Given the description of an element on the screen output the (x, y) to click on. 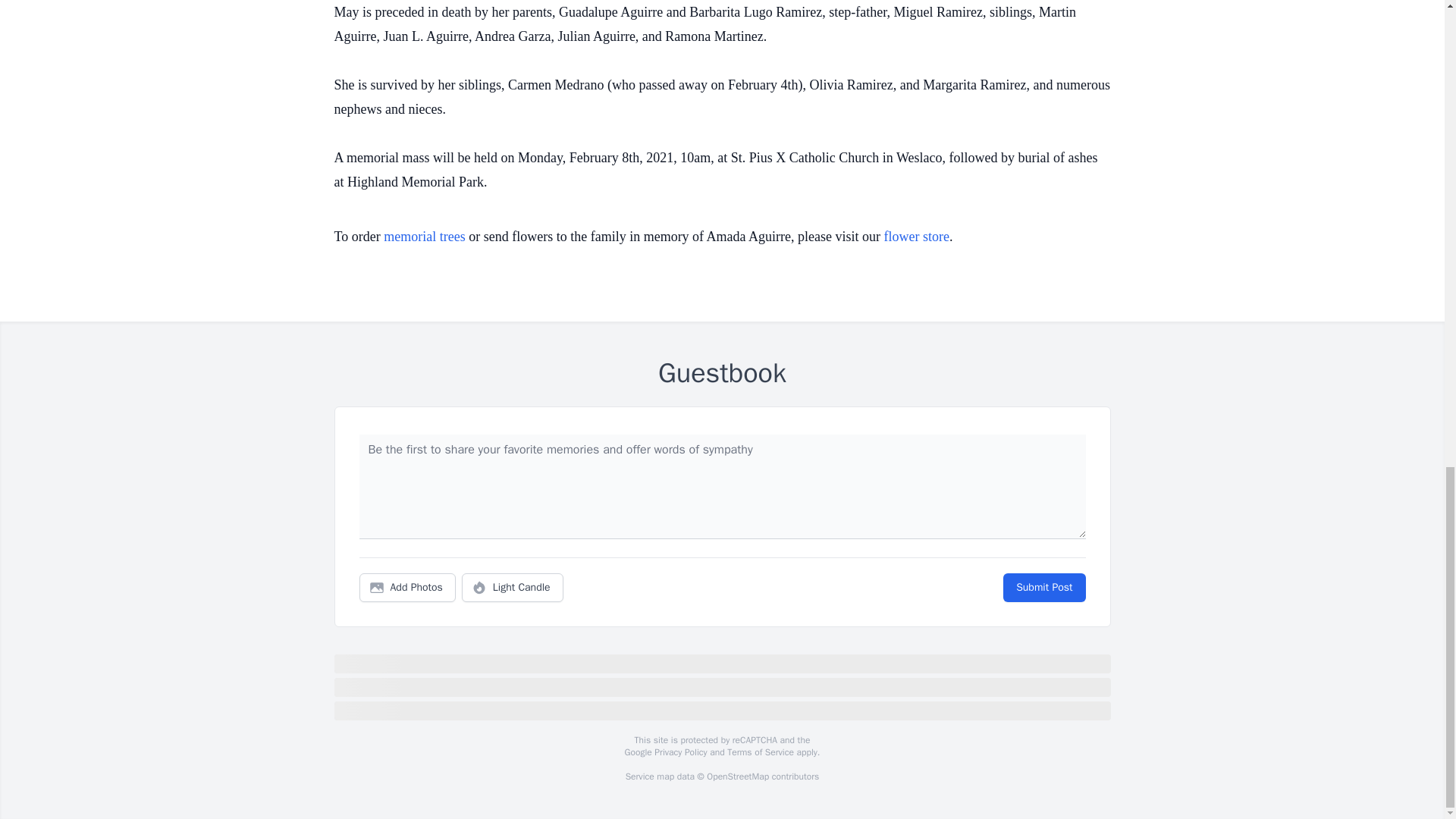
Add Photos (407, 587)
Light Candle (512, 587)
Privacy Policy (679, 752)
Terms of Service (759, 752)
flower store (916, 236)
Submit Post (1043, 587)
OpenStreetMap (737, 776)
memorial trees (424, 236)
